Given the description of an element on the screen output the (x, y) to click on. 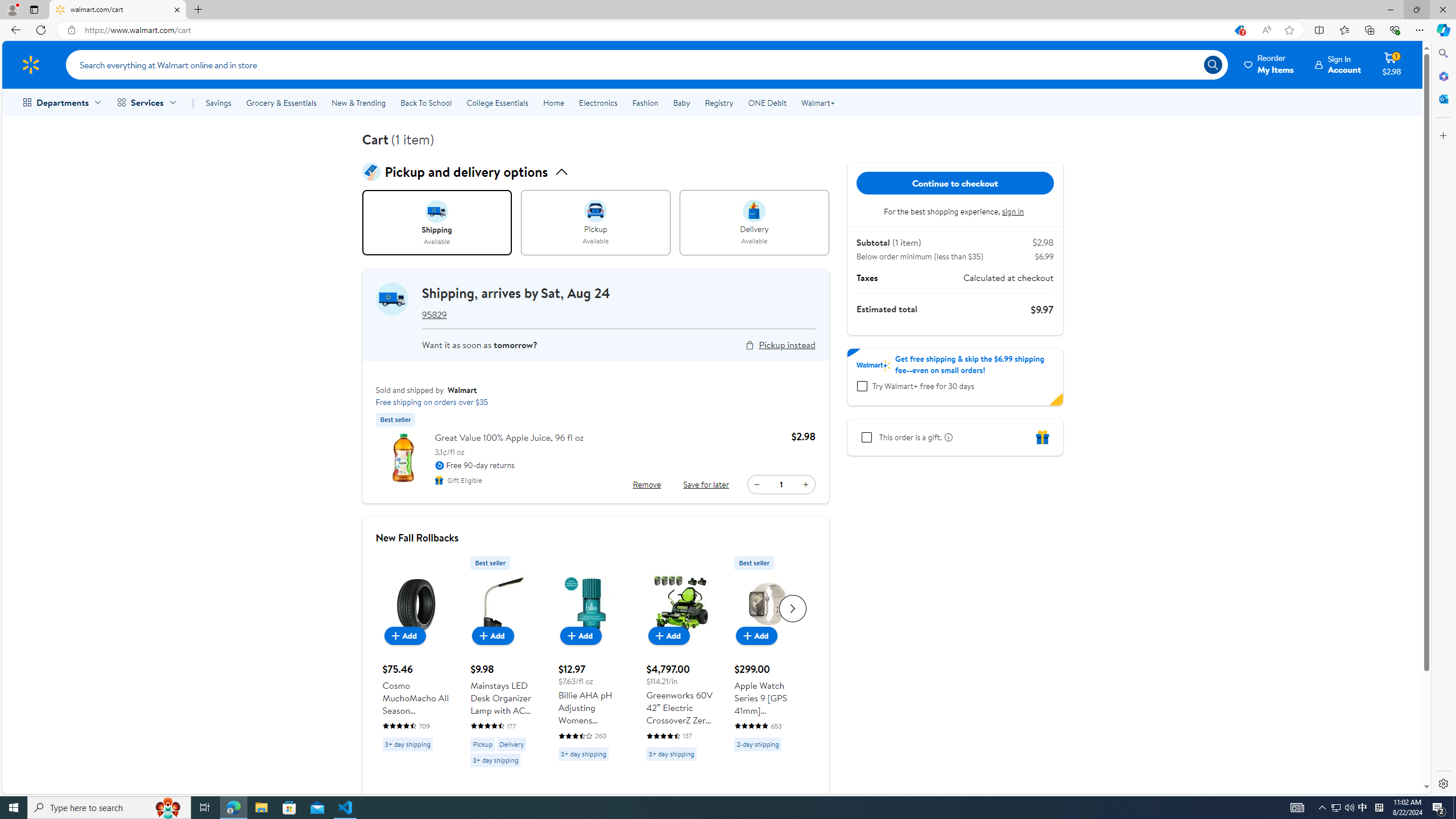
Search icon (1212, 64)
Try Walmart+ free for 30 days (861, 385)
Save for later: Great Value 100% Apple Juice, 96 fl oz (705, 484)
Pickup and delivery options heading (595, 171)
New & Trending (358, 102)
walmart.com/cart (117, 9)
Registry (718, 102)
